Given the description of an element on the screen output the (x, y) to click on. 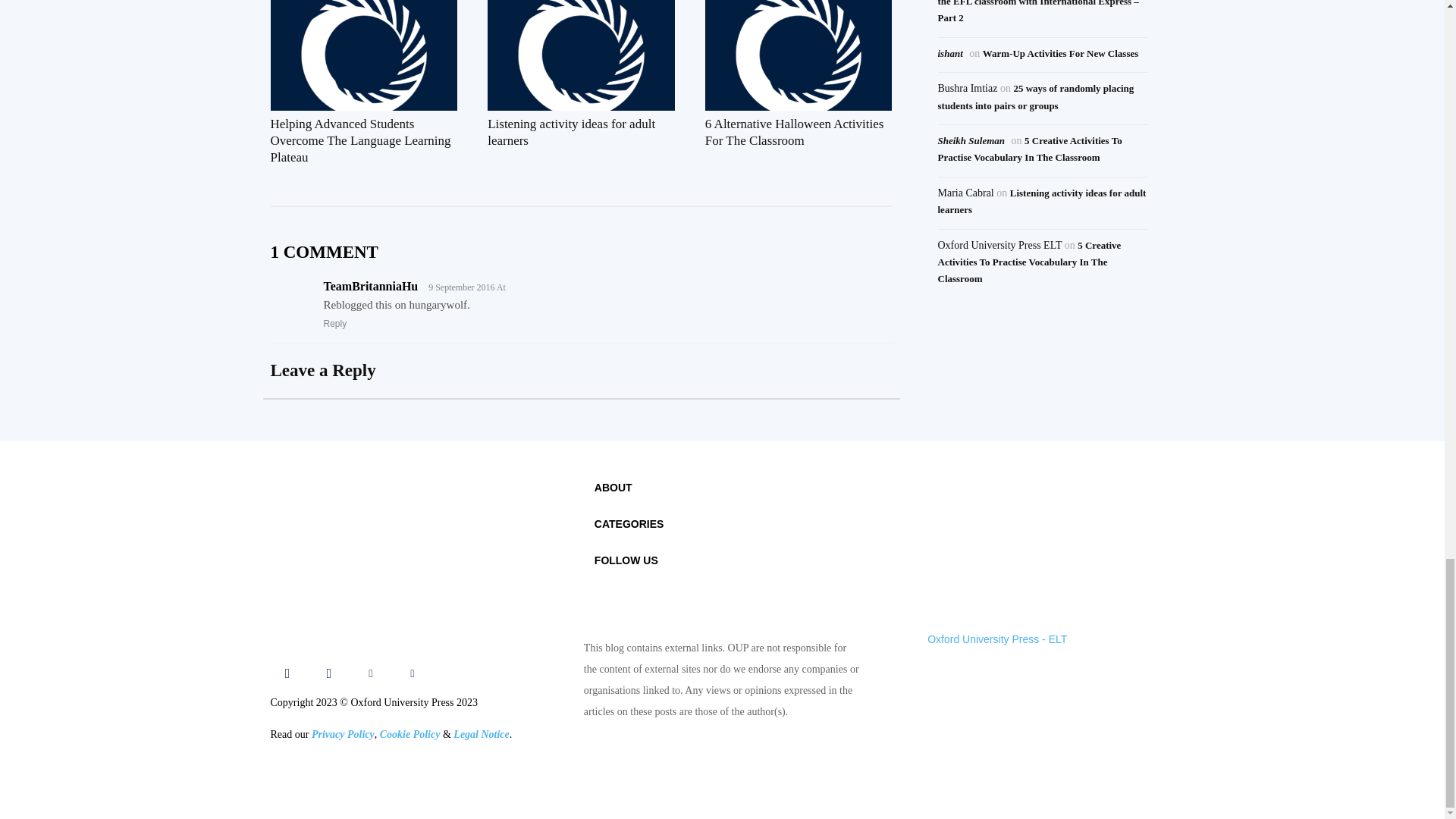
Listening activity ideas for adult learners (571, 132)
9 September 2016 At (462, 286)
Listening activity ideas for adult learners (571, 132)
TeamBritanniaHu (370, 286)
Reply (334, 323)
Listening activity ideas for adult learners (581, 55)
6 Alternative Halloween Activities For The Classroom (793, 132)
